Given the description of an element on the screen output the (x, y) to click on. 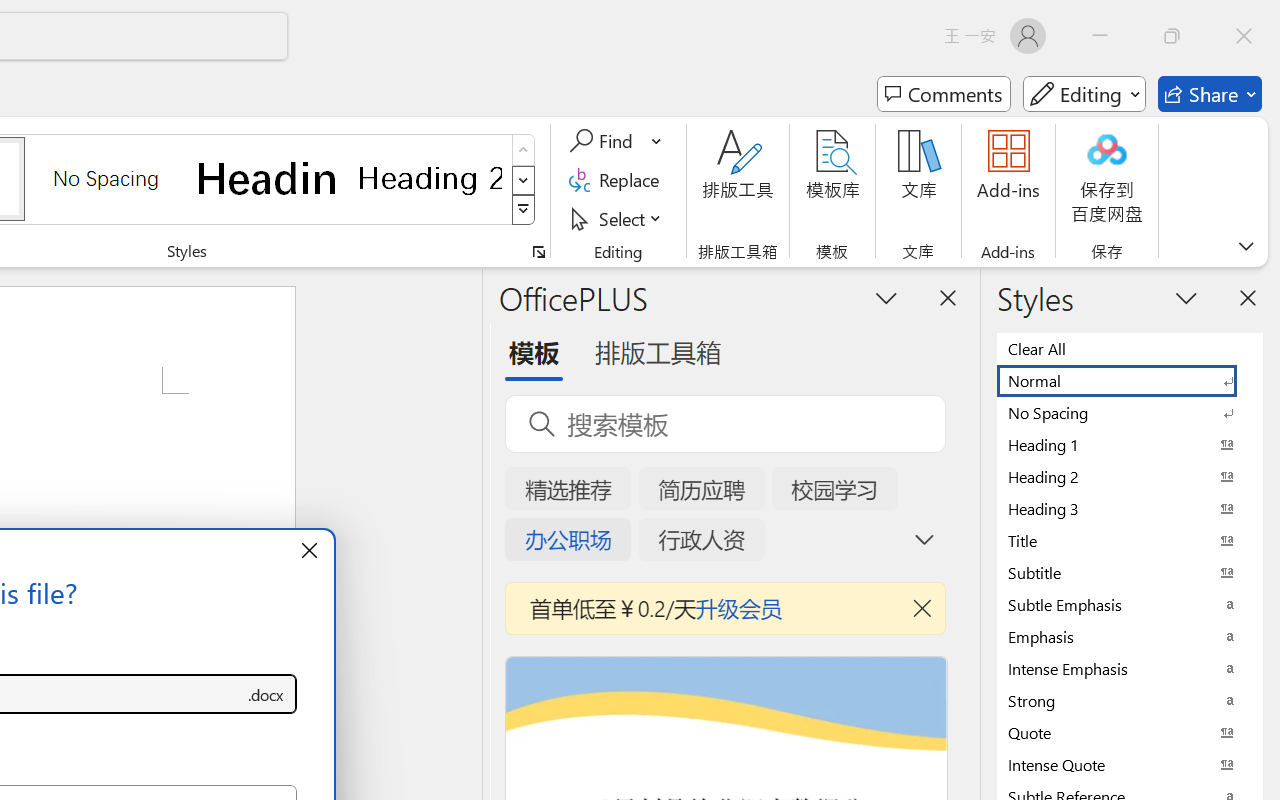
Restore Down (1172, 36)
Quote (1130, 732)
Share (1210, 94)
Class: NetUIImage (523, 210)
Ribbon Display Options (1246, 245)
Mode (1083, 94)
Save as type (265, 694)
